Given the description of an element on the screen output the (x, y) to click on. 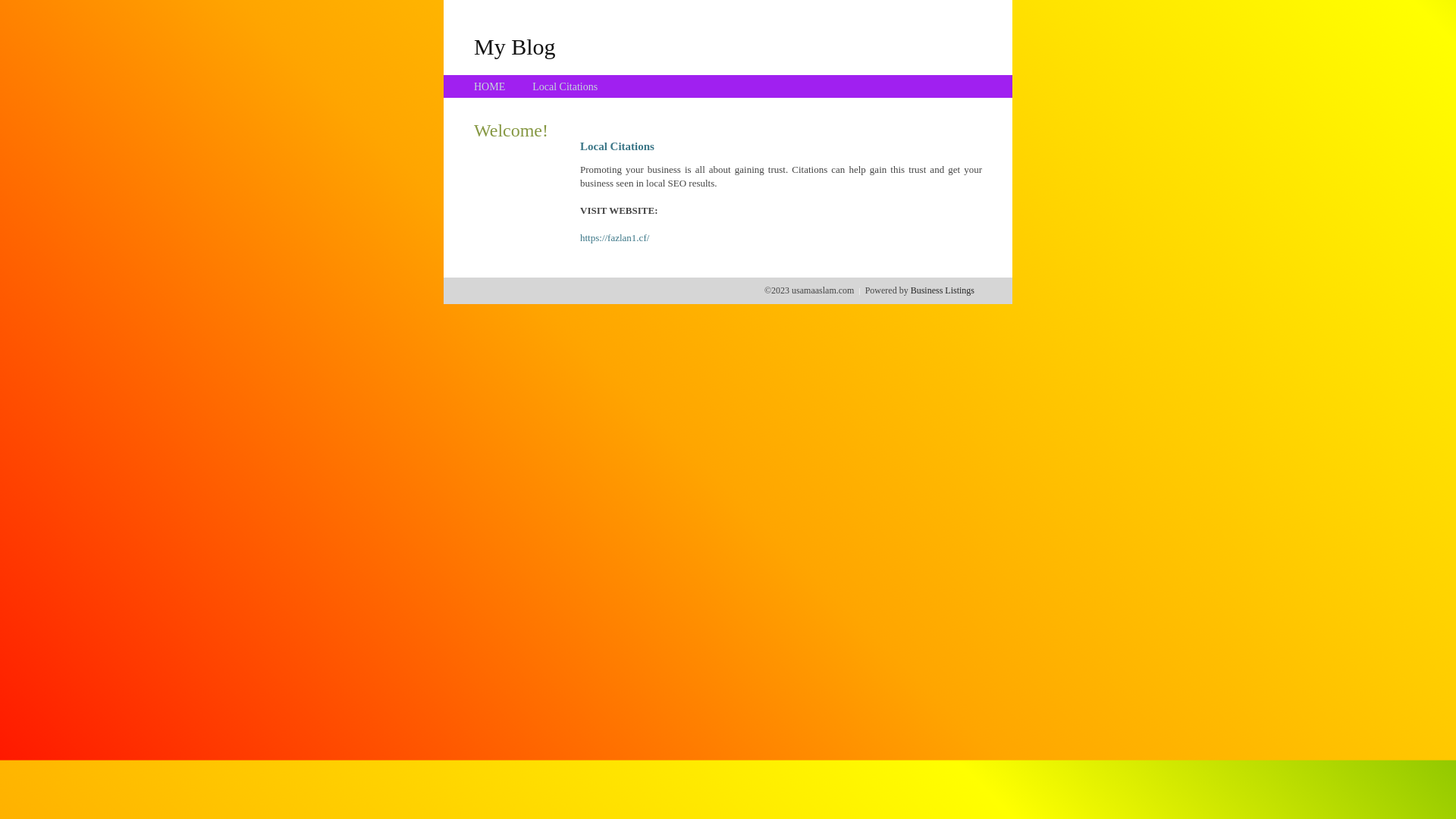
My Blog Element type: text (514, 46)
HOME Element type: text (489, 86)
https://fazlan1.cf/ Element type: text (614, 237)
Local Citations Element type: text (564, 86)
Business Listings Element type: text (942, 290)
